Given the description of an element on the screen output the (x, y) to click on. 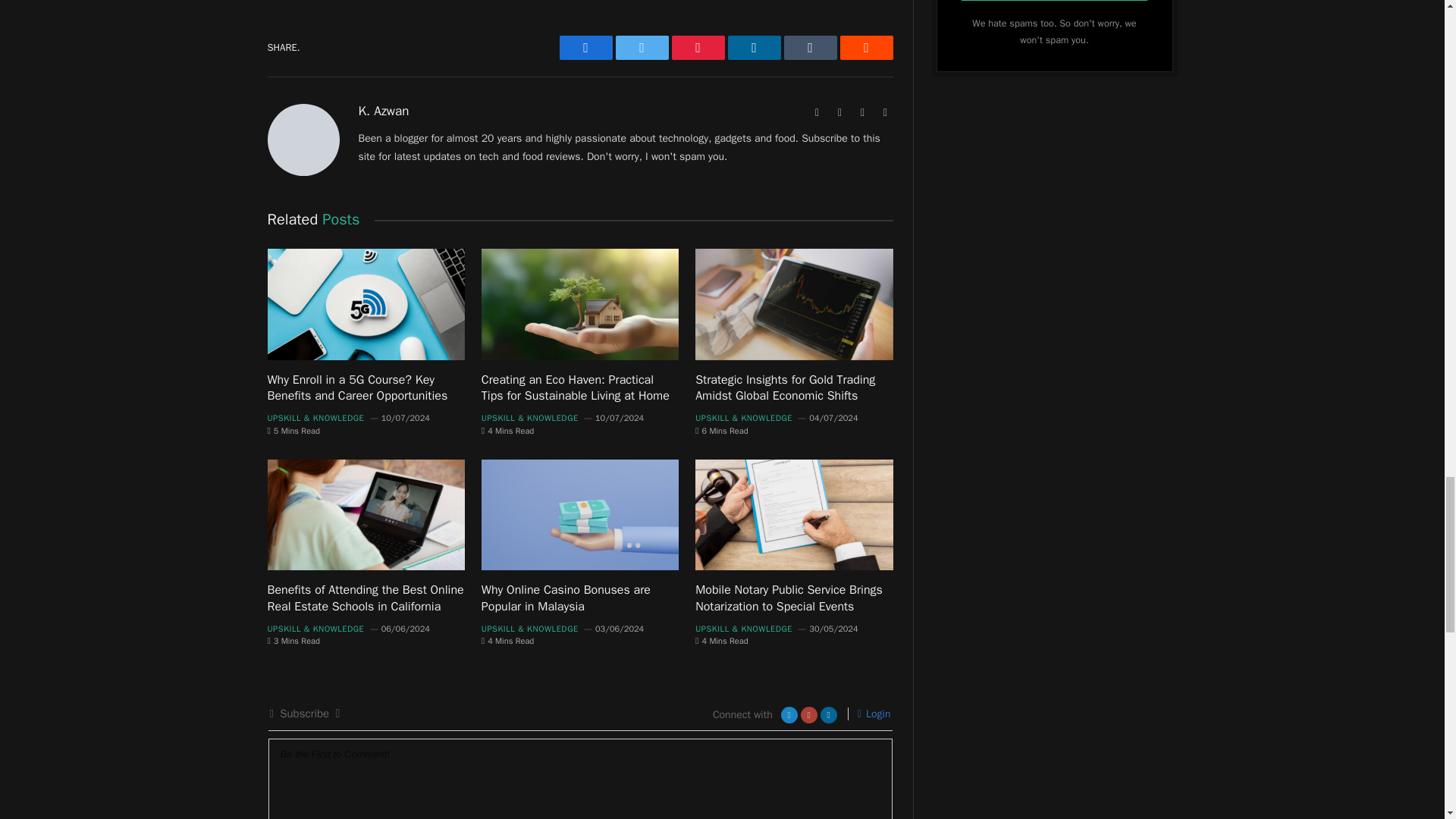
Share on Facebook (585, 47)
